Given the description of an element on the screen output the (x, y) to click on. 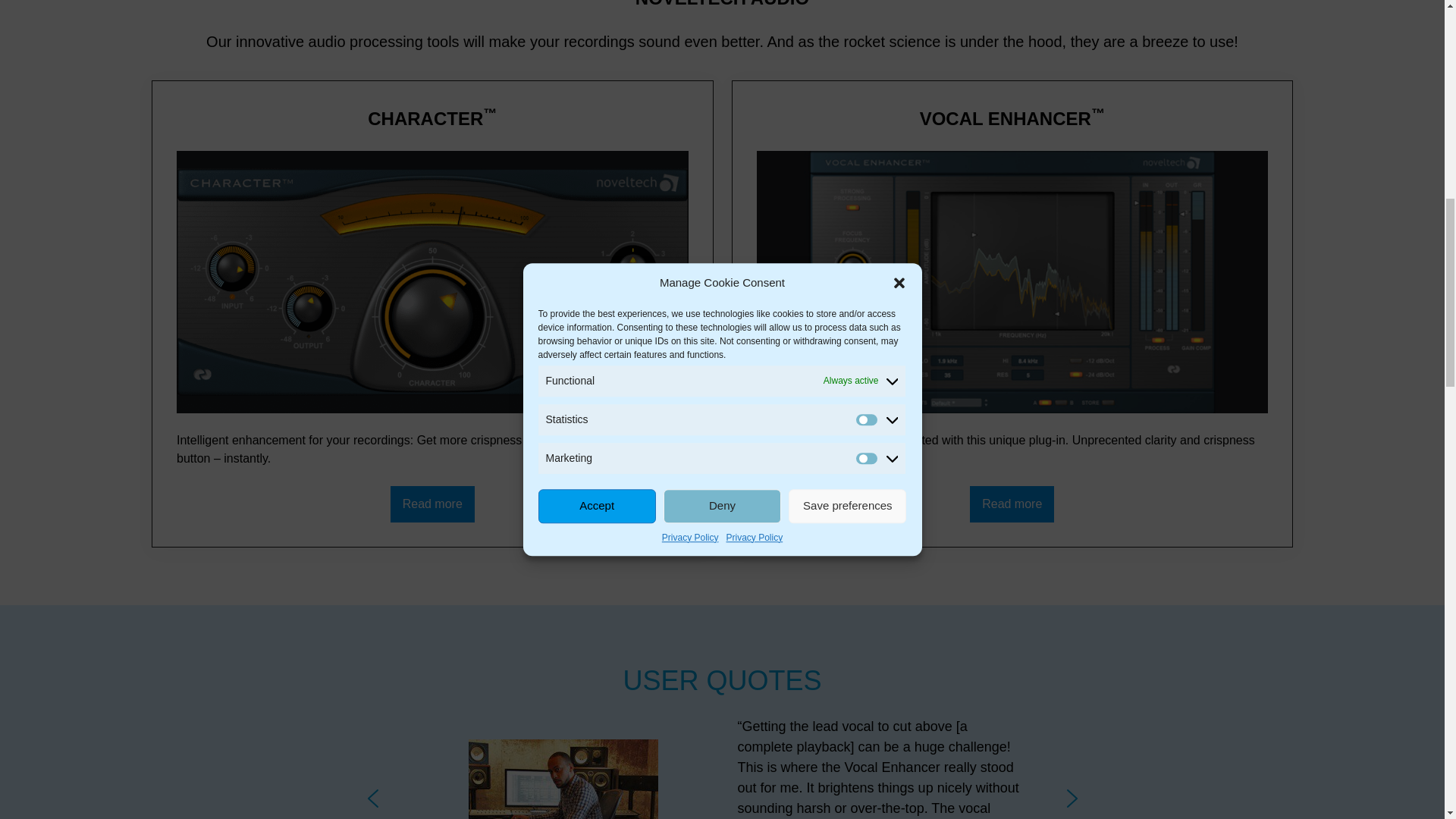
Read more (1011, 504)
Read more (432, 504)
